Given the description of an element on the screen output the (x, y) to click on. 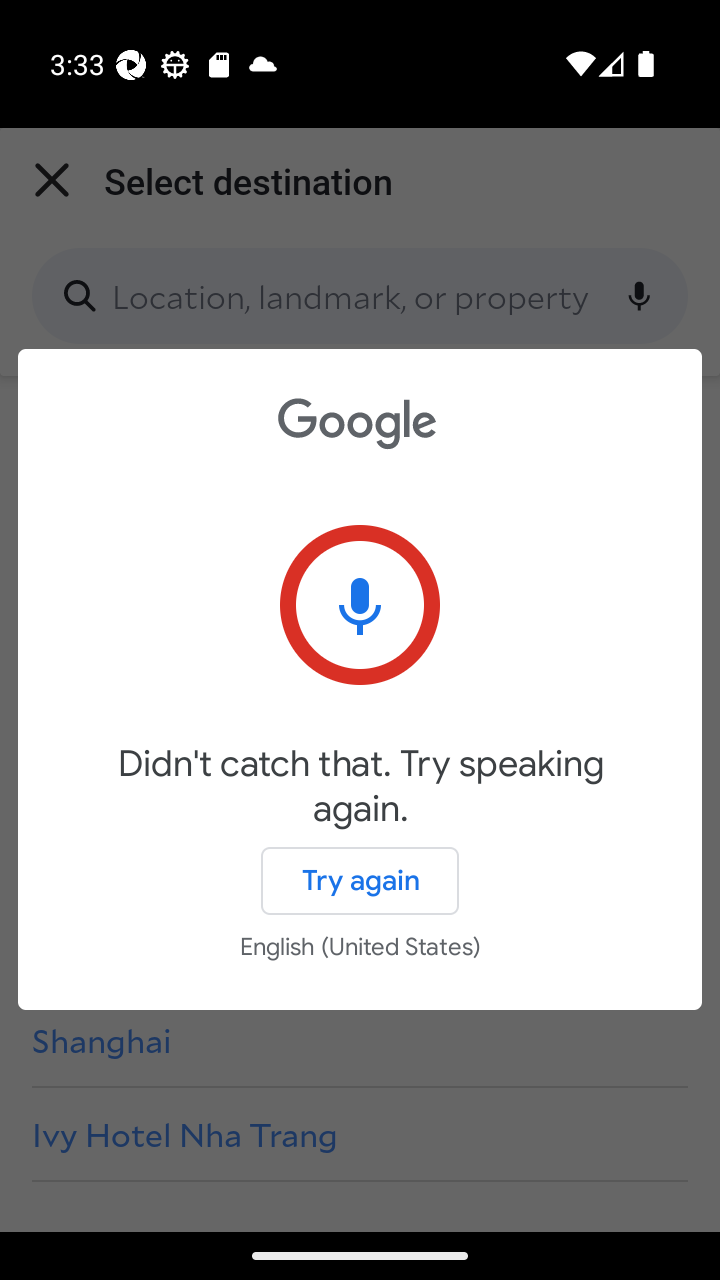
Tap to try again (359, 604)
Try again (359, 880)
